Given the description of an element on the screen output the (x, y) to click on. 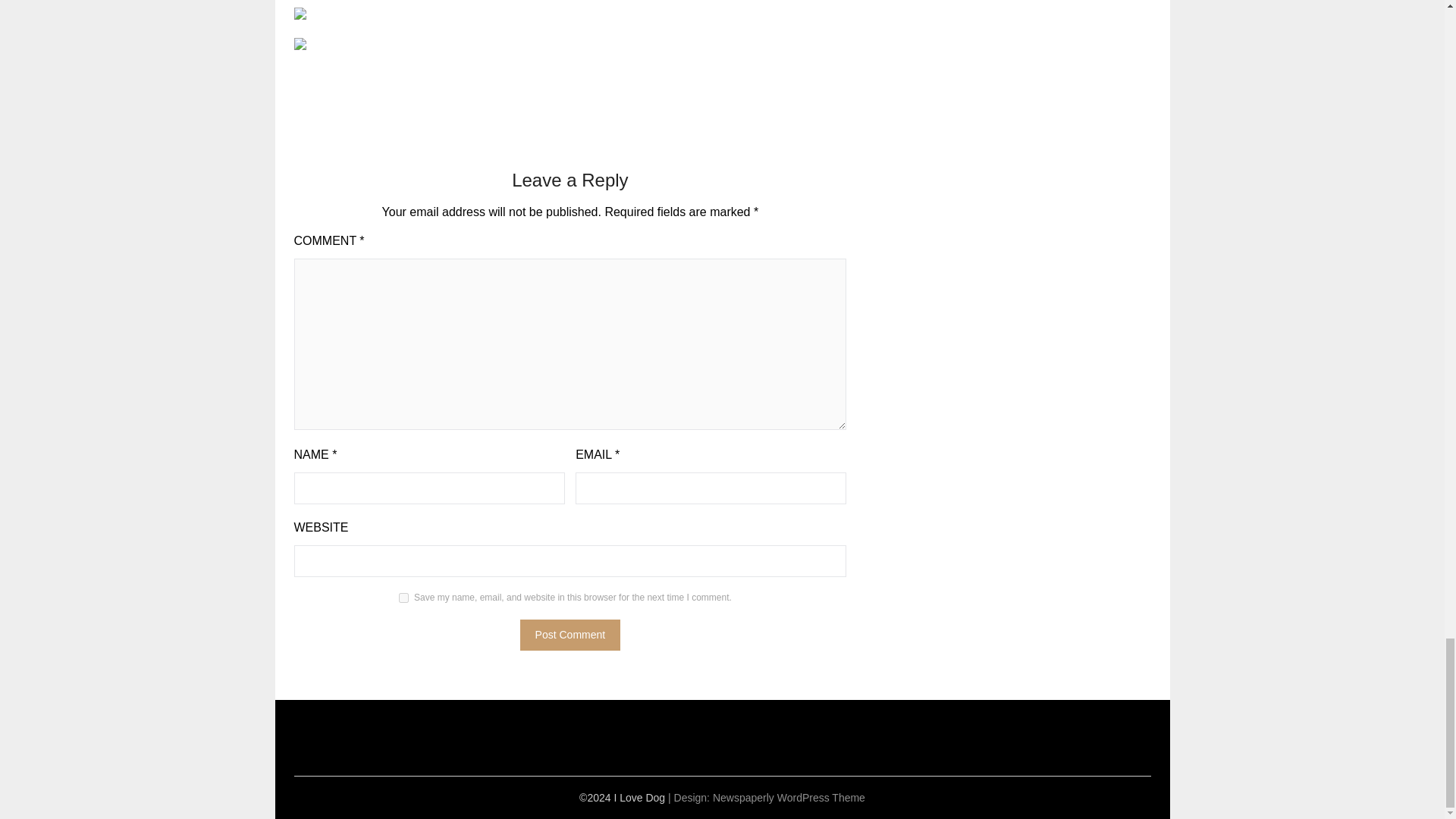
Newspaperly WordPress Theme (788, 797)
Post Comment (570, 634)
Post Comment (570, 634)
yes (403, 597)
